Given the description of an element on the screen output the (x, y) to click on. 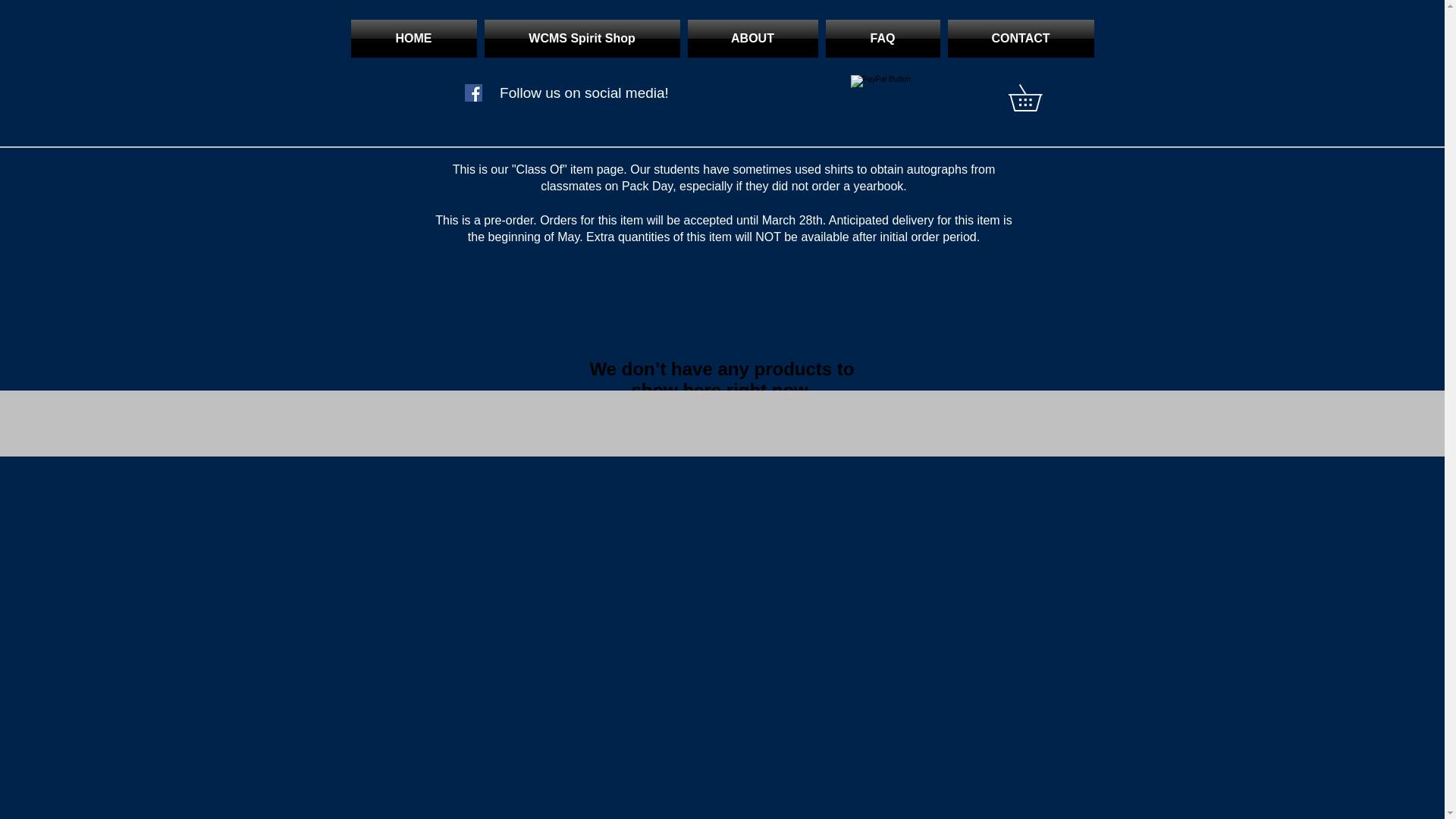
HOME (415, 38)
WCMS Spirit Shop (582, 38)
FAQ (882, 38)
CONTACT (1018, 38)
ABOUT (753, 38)
